Given the description of an element on the screen output the (x, y) to click on. 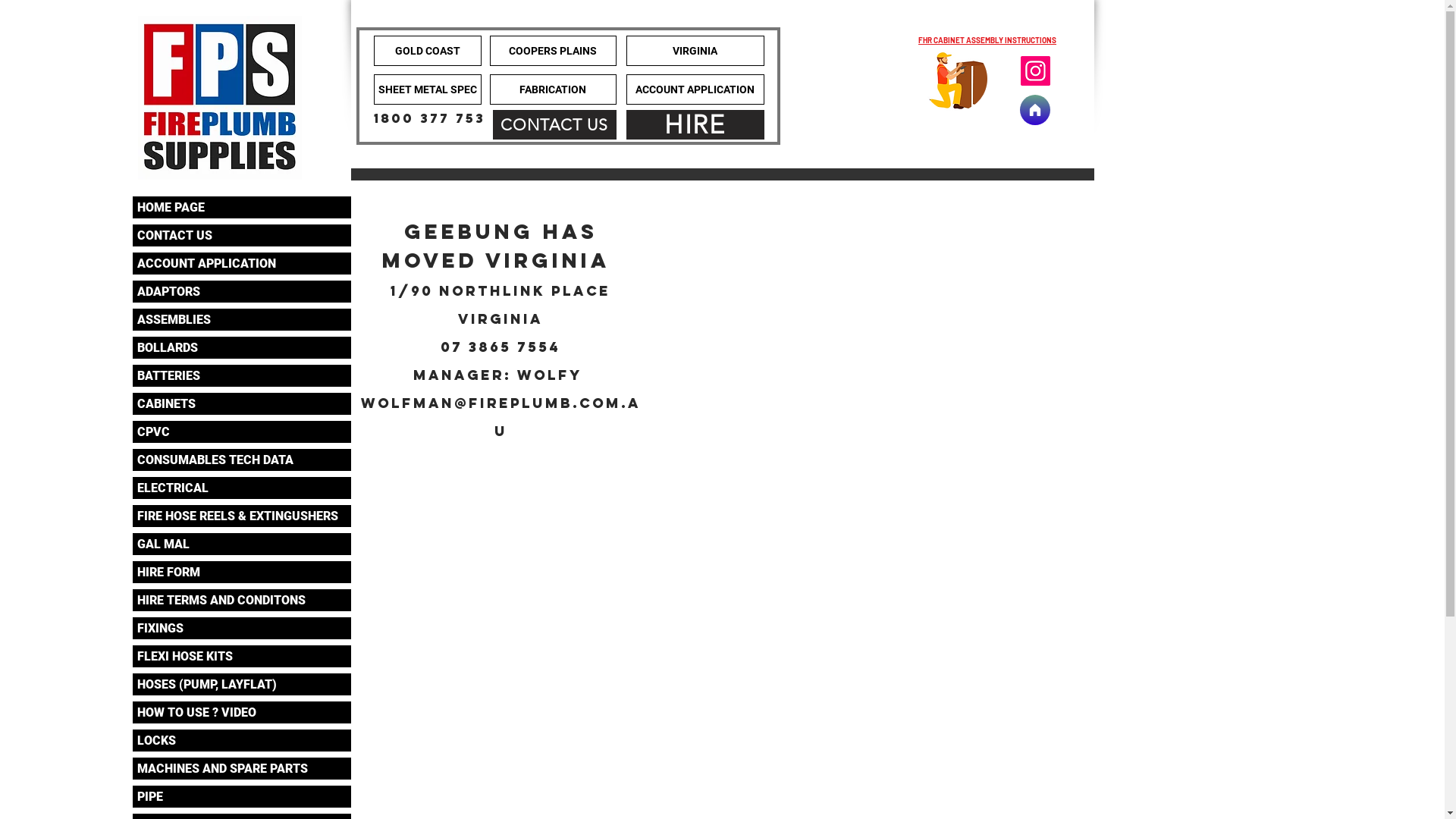
CONTACT US Element type: text (554, 124)
ACCOUNT APPLICATION Element type: text (240, 263)
VIRGINIA Element type: text (695, 50)
CABINETS Element type: text (240, 403)
LOCKS Element type: text (240, 740)
HIRE Element type: text (695, 124)
FIRE HOSE REELS & EXTINGUSHERS Element type: text (240, 516)
HOME PAGE Element type: text (240, 207)
HIRE TERMS AND CONDITONS Element type: text (240, 600)
CONSUMABLES TECH DATA Element type: text (240, 459)
COOPERS PLAINS Element type: text (552, 50)
HIRE FORM Element type: text (240, 572)
FHR CABINET ASSEMBLY INSTRUCTIONS Element type: text (987, 39)
BOLLARDS Element type: text (240, 347)
FABRICATION Element type: text (552, 89)
FIXINGS Element type: text (240, 628)
FLEXI HOSE KITS Element type: text (240, 656)
HOSES (PUMP, LAYFLAT) Element type: text (240, 684)
HOW TO USE ? VIDEO Element type: text (240, 712)
SHEET METAL SPEC Element type: text (426, 89)
MACHINES AND SPARE PARTS Element type: text (240, 768)
CPVC Element type: text (240, 431)
ELECTRICAL Element type: text (240, 487)
BATTERIES Element type: text (240, 375)
GOLD COAST Element type: text (426, 50)
ACCOUNT APPLICATION Element type: text (695, 89)
GAL MAL Element type: text (240, 544)
ADAPTORS Element type: text (240, 291)
ASSEMBLIES Element type: text (240, 319)
CONTACT US Element type: text (240, 235)
PIPE Element type: text (240, 796)
